Given the description of an element on the screen output the (x, y) to click on. 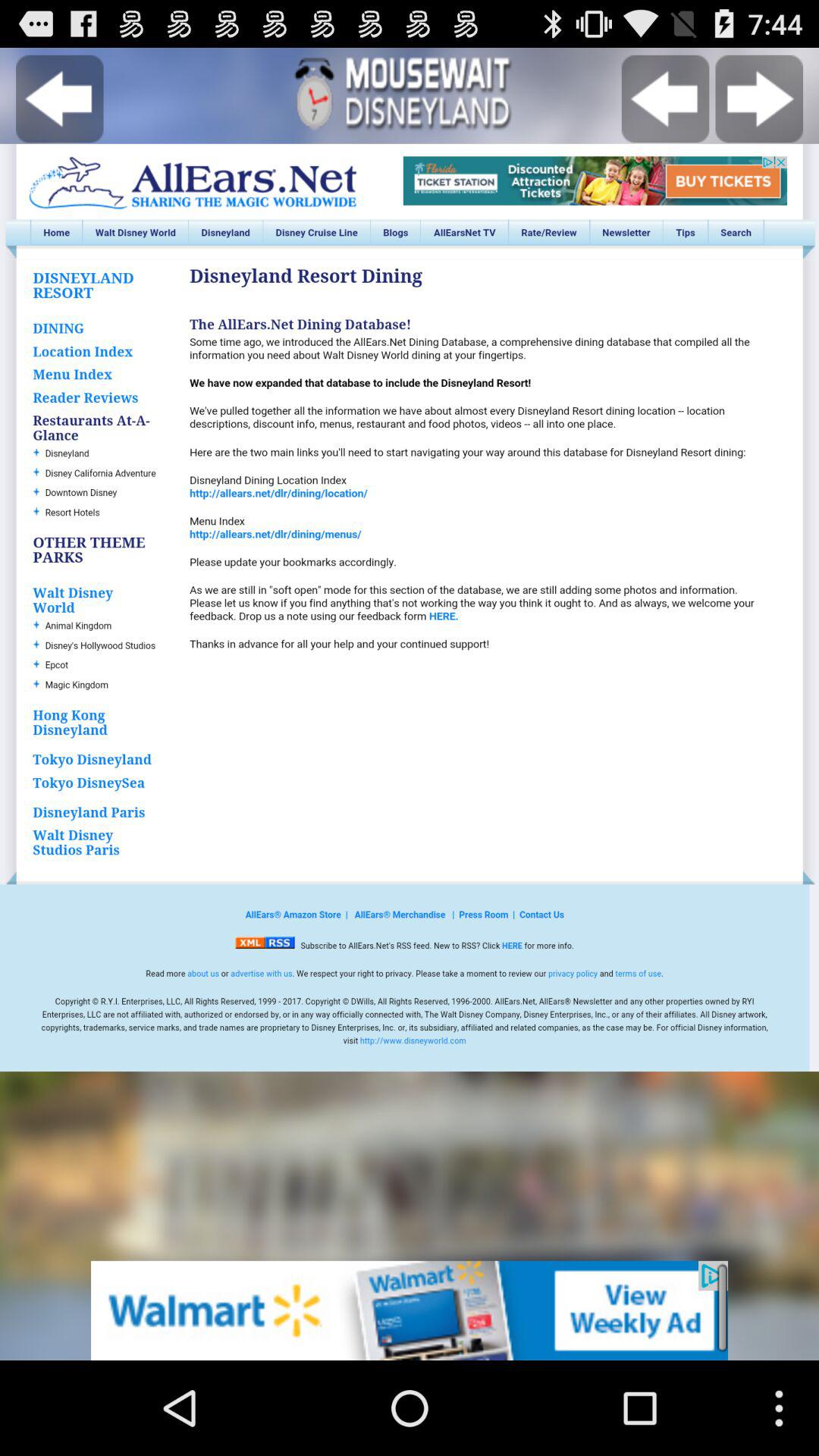
see advertisement (409, 1310)
